Given the description of an element on the screen output the (x, y) to click on. 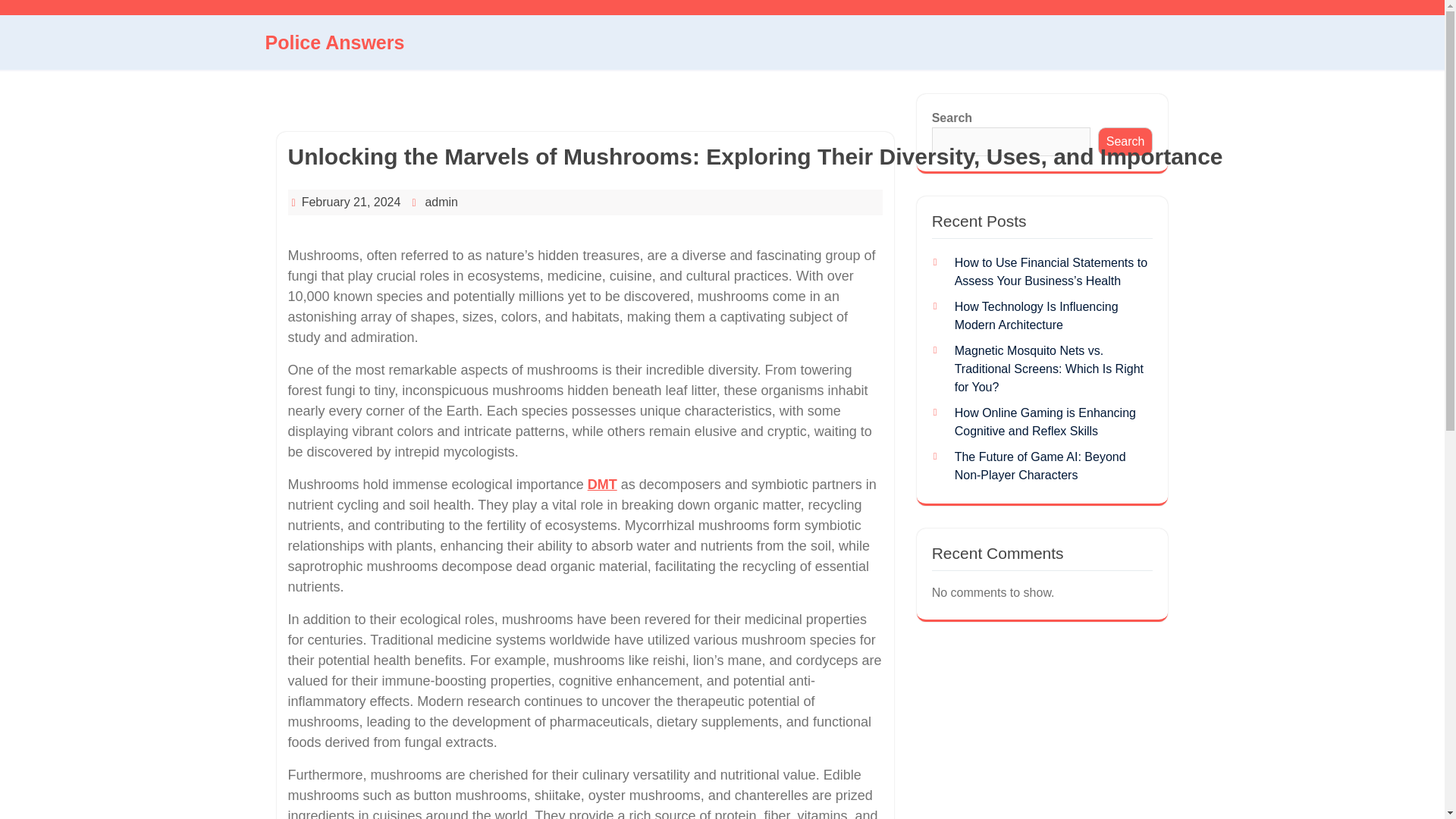
DMT (602, 484)
The Future of Game AI: Beyond Non-Player Characters (1040, 465)
How Online Gaming is Enhancing Cognitive and Reflex Skills (1045, 421)
How Technology Is Influencing Modern Architecture (1036, 315)
Search (1125, 141)
February 21, 2024 (351, 201)
Police Answers (334, 42)
admin (441, 201)
